Given the description of an element on the screen output the (x, y) to click on. 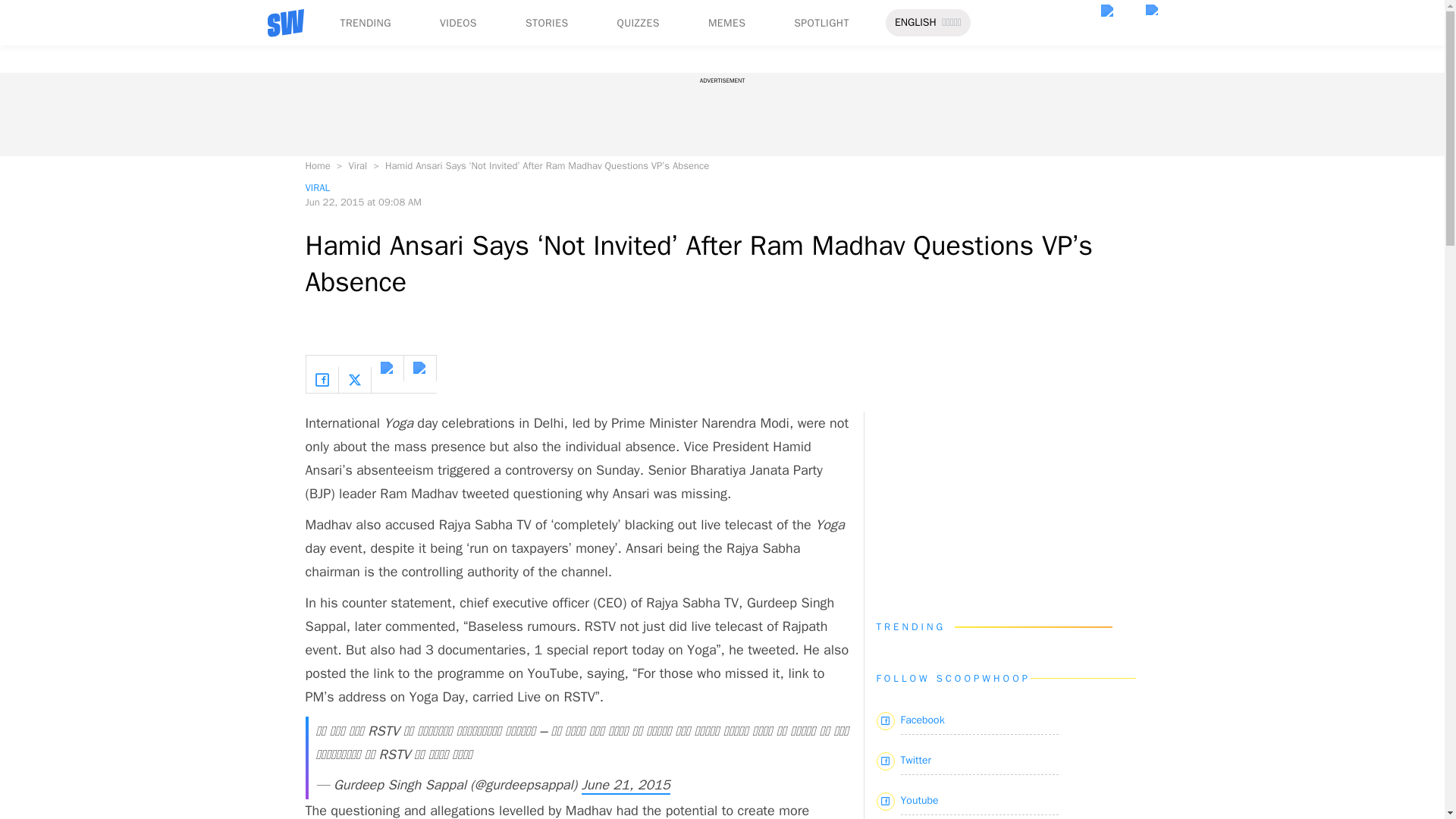
MEMES (726, 22)
ENGLISH (915, 22)
STORIES (547, 22)
VIDEOS (458, 22)
QUIZZES (638, 22)
SPOTLIGHT (820, 22)
TRENDING (364, 22)
